Given the description of an element on the screen output the (x, y) to click on. 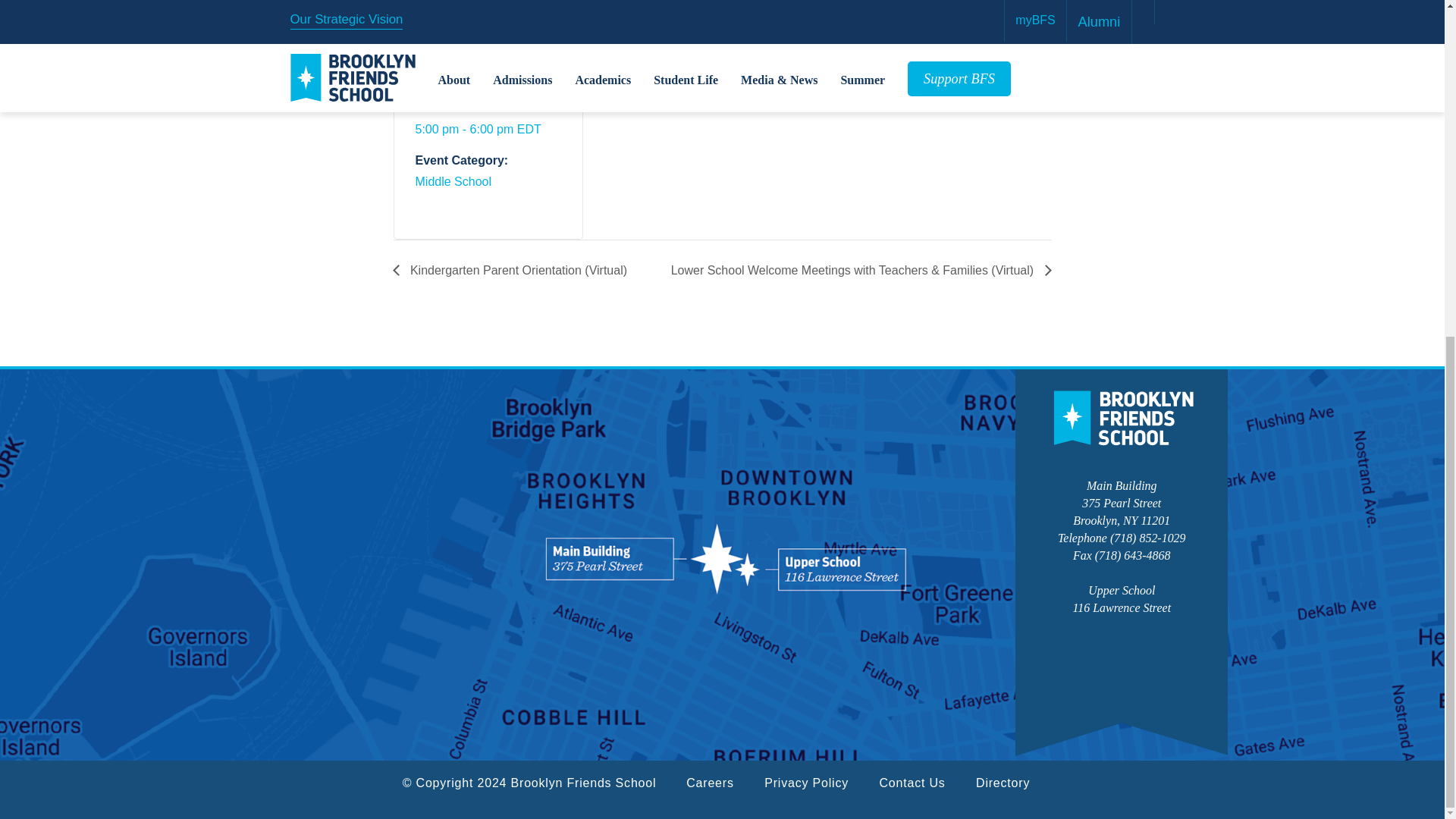
2021-09-02 (478, 129)
2021-09-02 (466, 77)
